Given the description of an element on the screen output the (x, y) to click on. 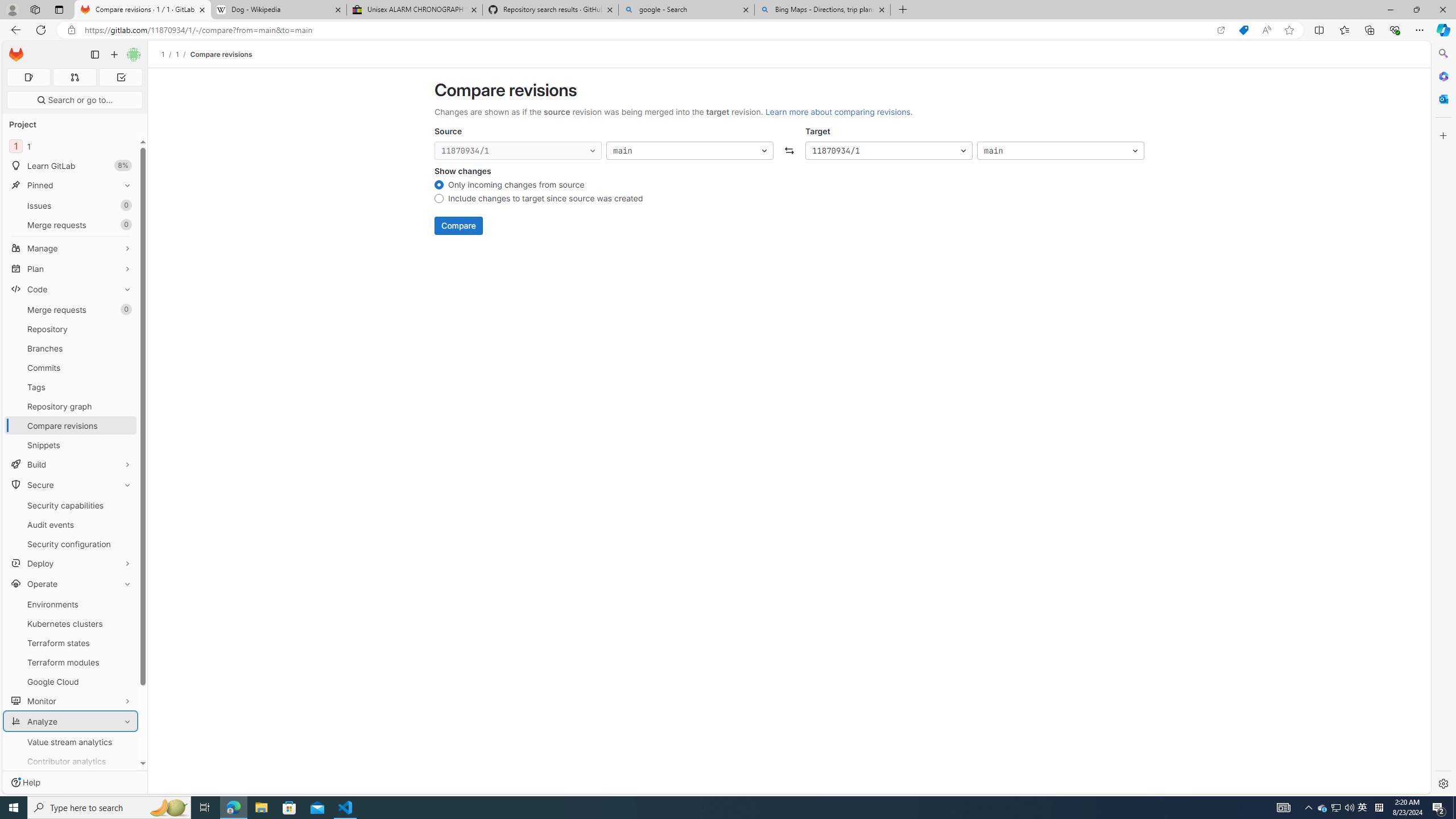
11 (70, 145)
Assigned issues 0 (28, 76)
1 (177, 53)
Environments (70, 603)
Repository (70, 328)
Unpin Merge requests (124, 309)
Merge requests0 (70, 309)
Manage (70, 248)
Kubernetes clusters (70, 623)
Pin Compare revisions (124, 425)
Pin Repository analytics (124, 799)
